Given the description of an element on the screen output the (x, y) to click on. 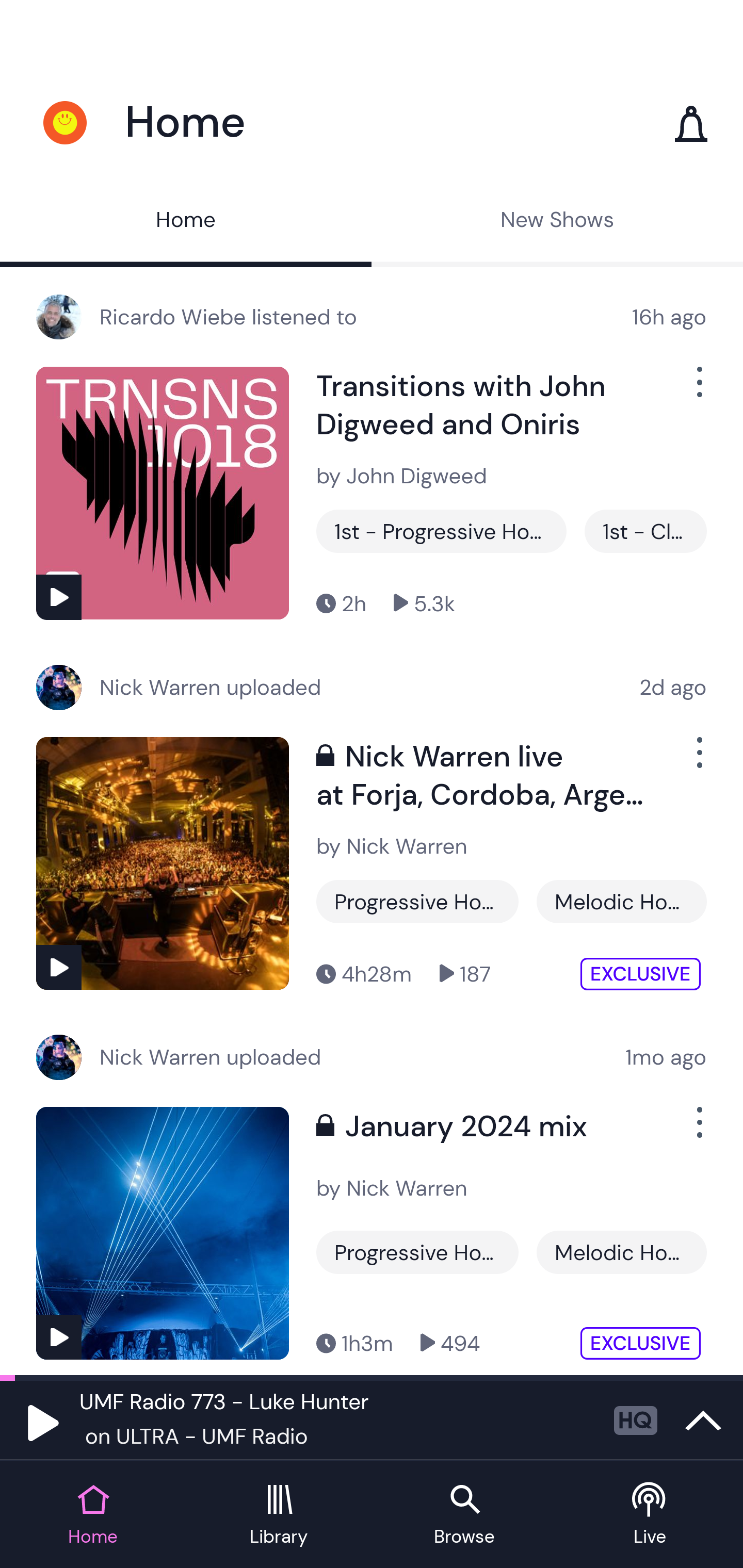
Home (185, 221)
New Shows (557, 221)
Show Options Menu Button (697, 389)
1st - Progressive House (441, 531)
1st - Club (645, 531)
Show Options Menu Button (697, 760)
Progressive House (417, 901)
Melodic House (621, 901)
Show Options Menu Button (697, 1130)
Progressive House (417, 1251)
Melodic House (621, 1251)
Home tab Home (92, 1515)
Library tab Library (278, 1515)
Browse tab Browse (464, 1515)
Live tab Live (650, 1515)
